Given the description of an element on the screen output the (x, y) to click on. 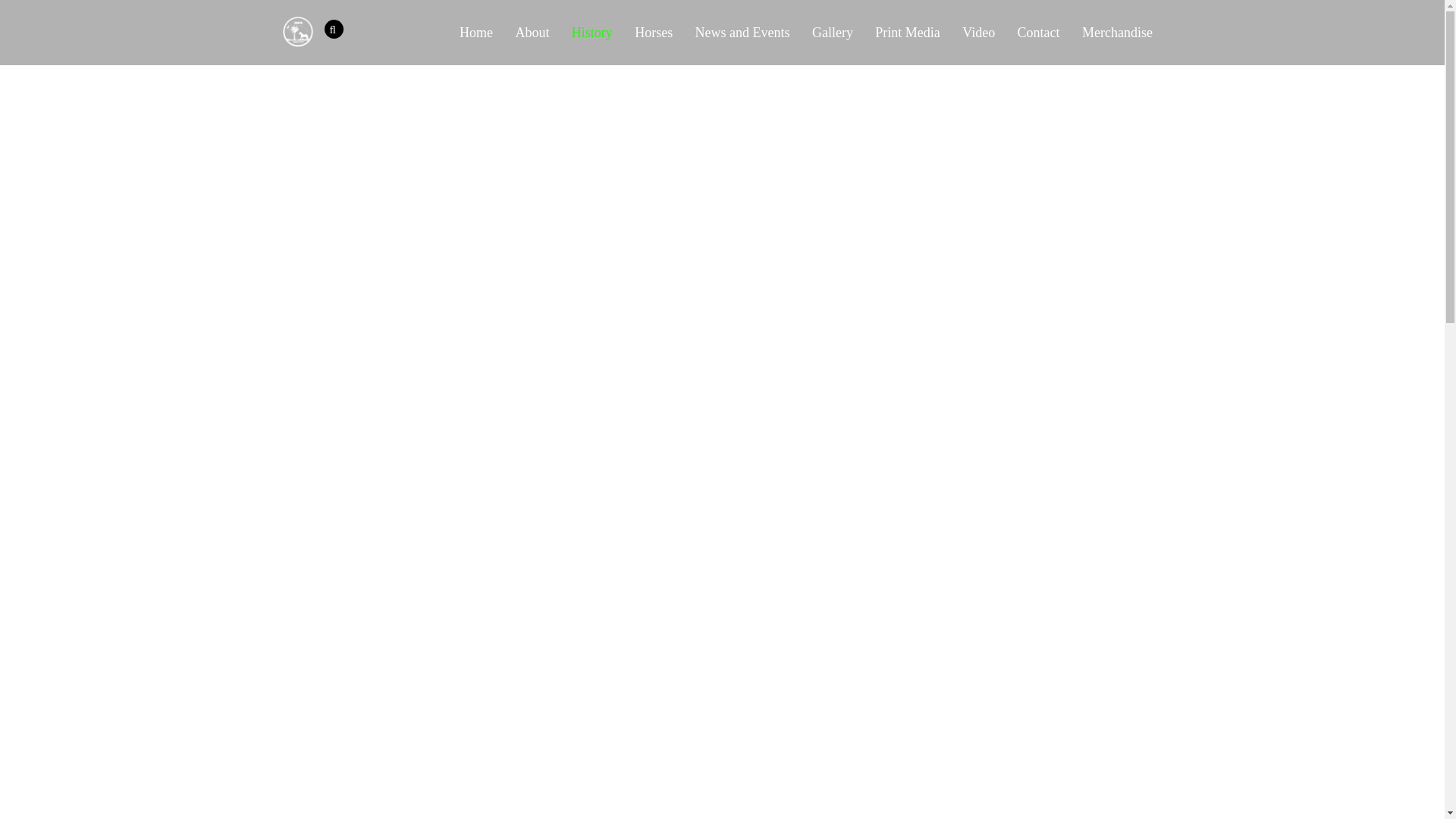
Carolina Marsh Tacky Association (297, 31)
Horses (654, 33)
Merchandise (1116, 33)
Carolina Marsh Tacky Association (297, 38)
Home (475, 33)
Print Media (908, 33)
About (532, 33)
History (591, 33)
Video (978, 33)
Gallery (831, 33)
News and Events (742, 33)
Contact (1037, 33)
